Given the description of an element on the screen output the (x, y) to click on. 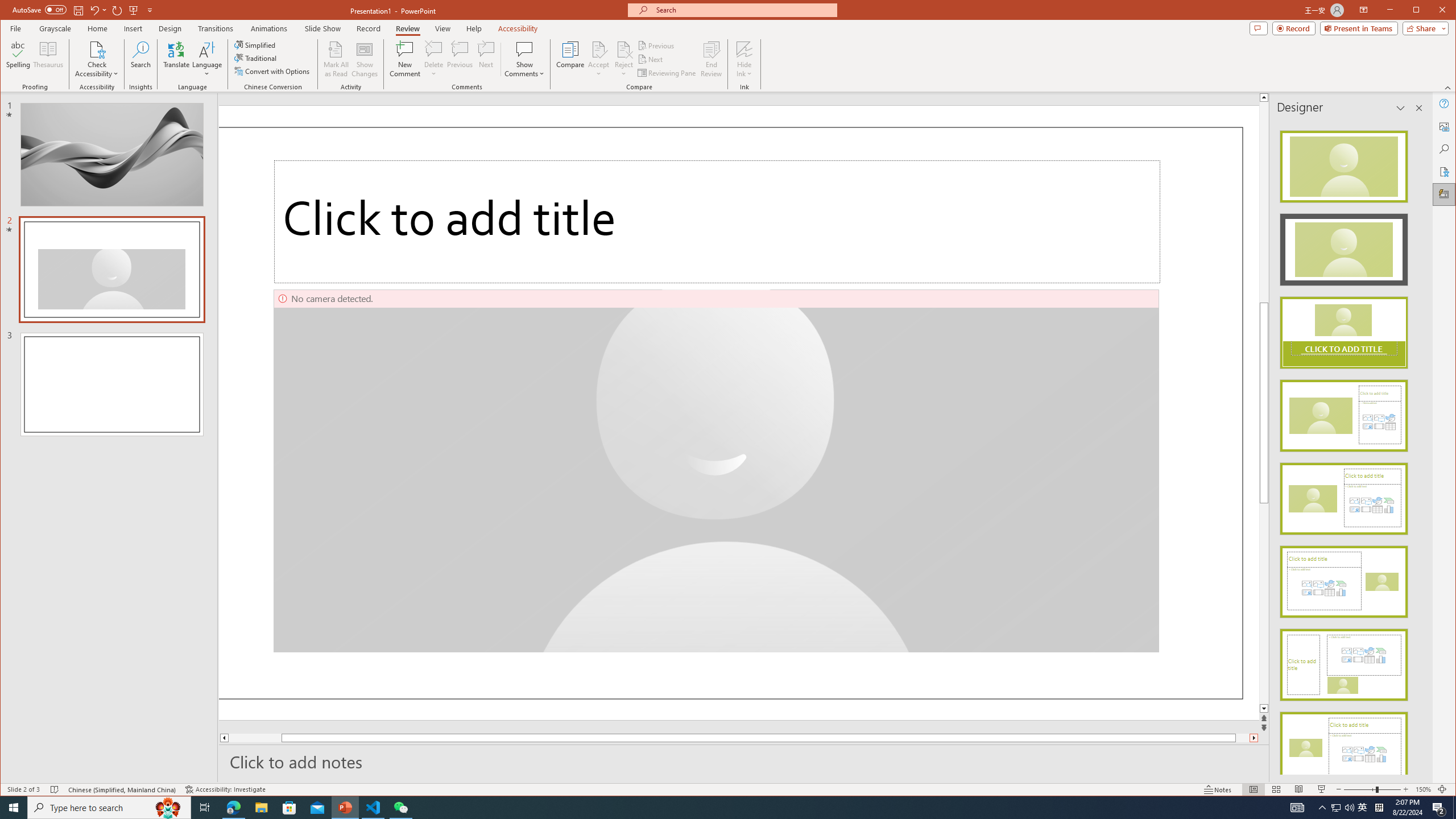
Zoom 150% (1422, 789)
Recommended Design: Design Idea (1343, 163)
